Given the description of an element on the screen output the (x, y) to click on. 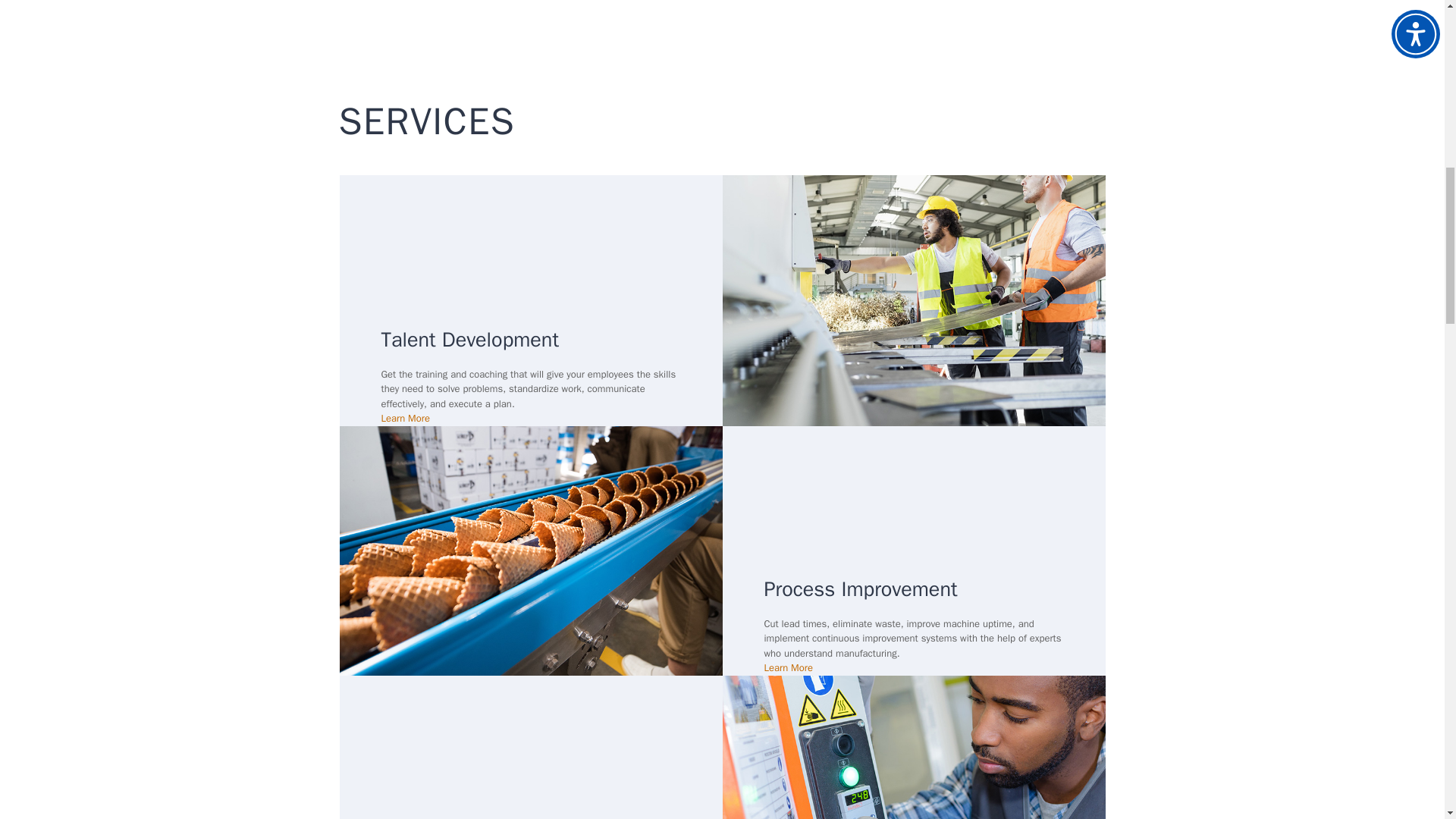
Learn More (404, 418)
Learn More (788, 667)
